Given the description of an element on the screen output the (x, y) to click on. 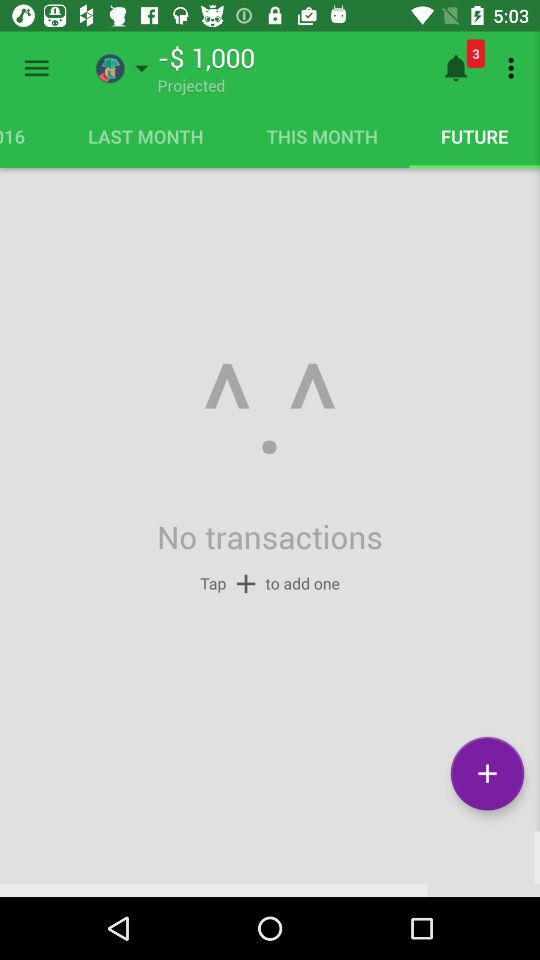
press icon below the last month icon (269, 410)
